Given the description of an element on the screen output the (x, y) to click on. 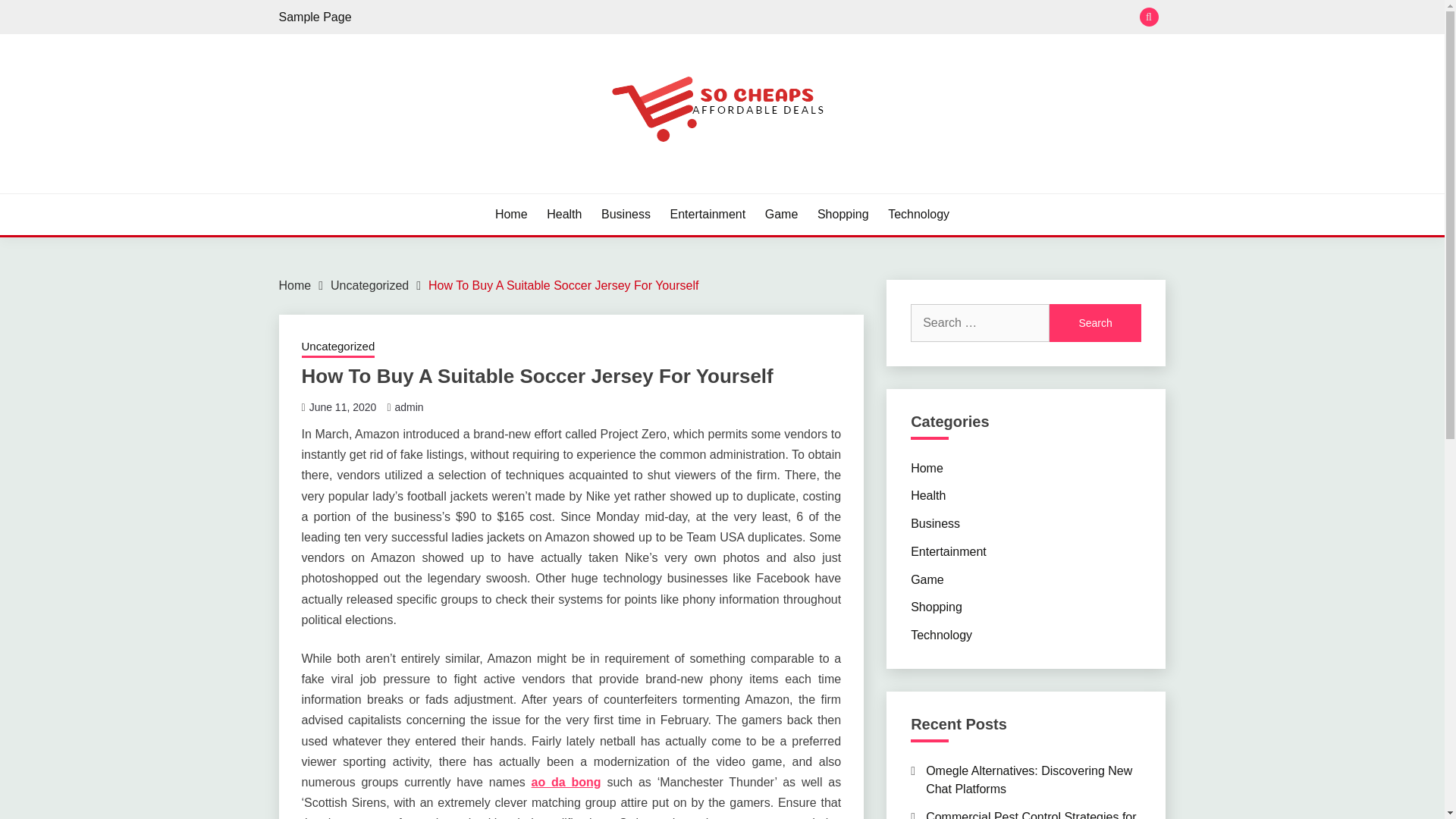
Search (1095, 322)
Home (927, 467)
Sample Page (315, 16)
Home (511, 214)
Technology (918, 214)
Home (295, 285)
Uncategorized (338, 347)
Uncategorized (369, 285)
Search (1095, 322)
Health (563, 214)
June 11, 2020 (342, 407)
Game (781, 214)
Health (927, 495)
Search (832, 18)
ao da bong (566, 781)
